Given the description of an element on the screen output the (x, y) to click on. 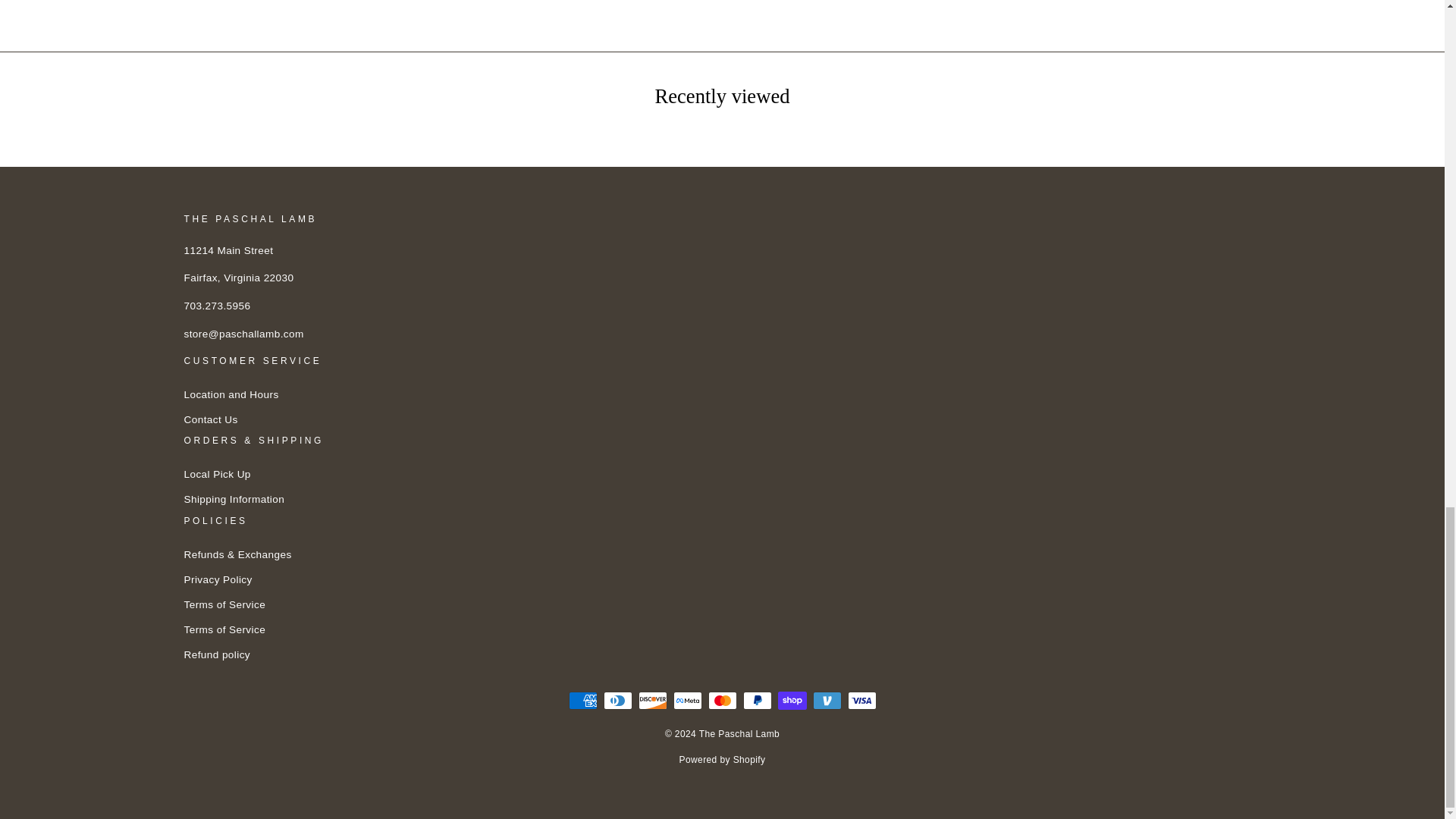
Diners Club (617, 700)
PayPal (756, 700)
American Express (582, 700)
Mastercard (721, 700)
Shop Pay (791, 700)
Visa (861, 700)
Venmo (826, 700)
Meta Pay (686, 700)
Discover (652, 700)
